Given the description of an element on the screen output the (x, y) to click on. 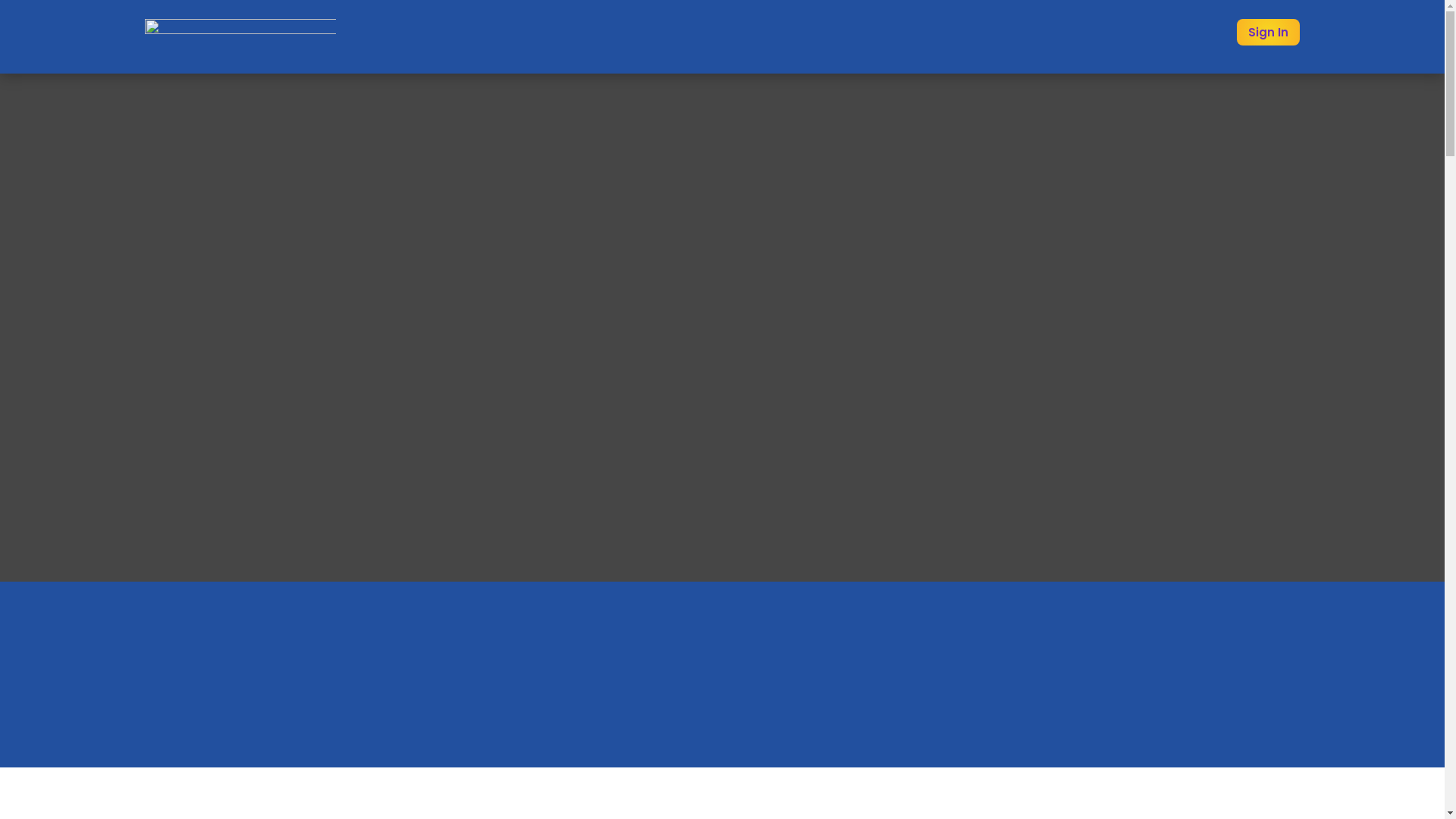
3D-Printing-Builds-MP-WEBSITE-LOGO Element type: hover (239, 35)
Sign In Element type: text (1267, 31)
